Given the description of an element on the screen output the (x, y) to click on. 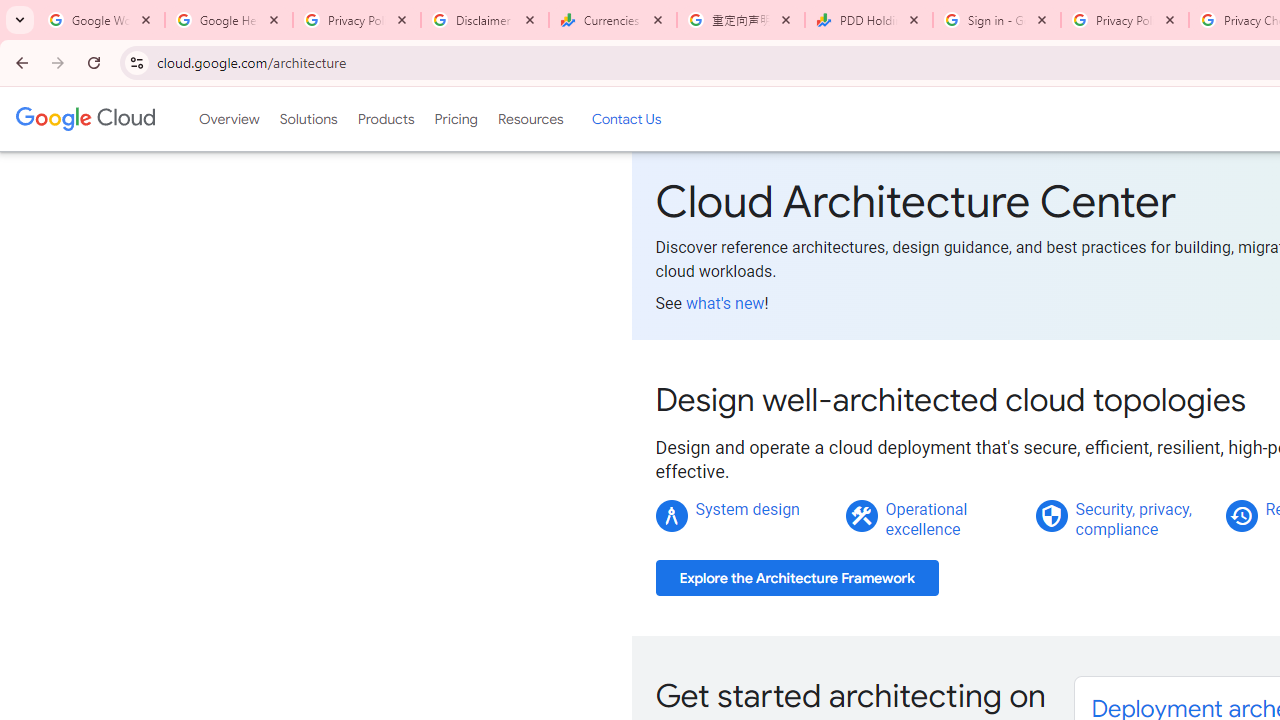
Currencies - Google Finance (613, 20)
Products (385, 119)
PDD Holdings Inc - ADR (PDD) Price & News - Google Finance (869, 20)
Resources (530, 119)
Sign in - Google Accounts (997, 20)
System design (747, 509)
Solutions (308, 119)
Explore the Architecture Framework (797, 578)
Contact Us (626, 119)
